Given the description of an element on the screen output the (x, y) to click on. 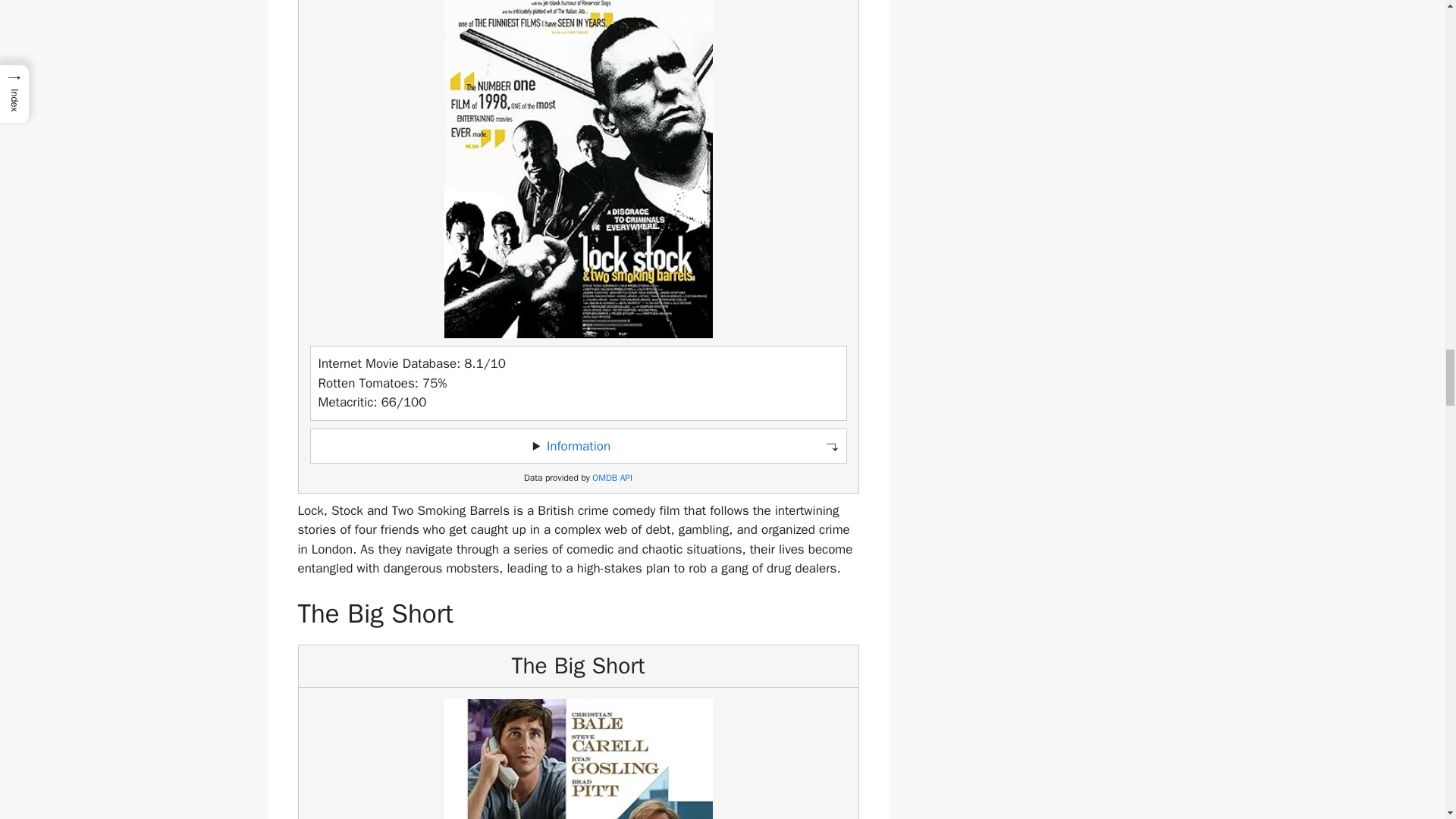
Toggle information (578, 446)
Information (578, 446)
OMDB API (611, 478)
Open Movie Database API (611, 478)
